Given the description of an element on the screen output the (x, y) to click on. 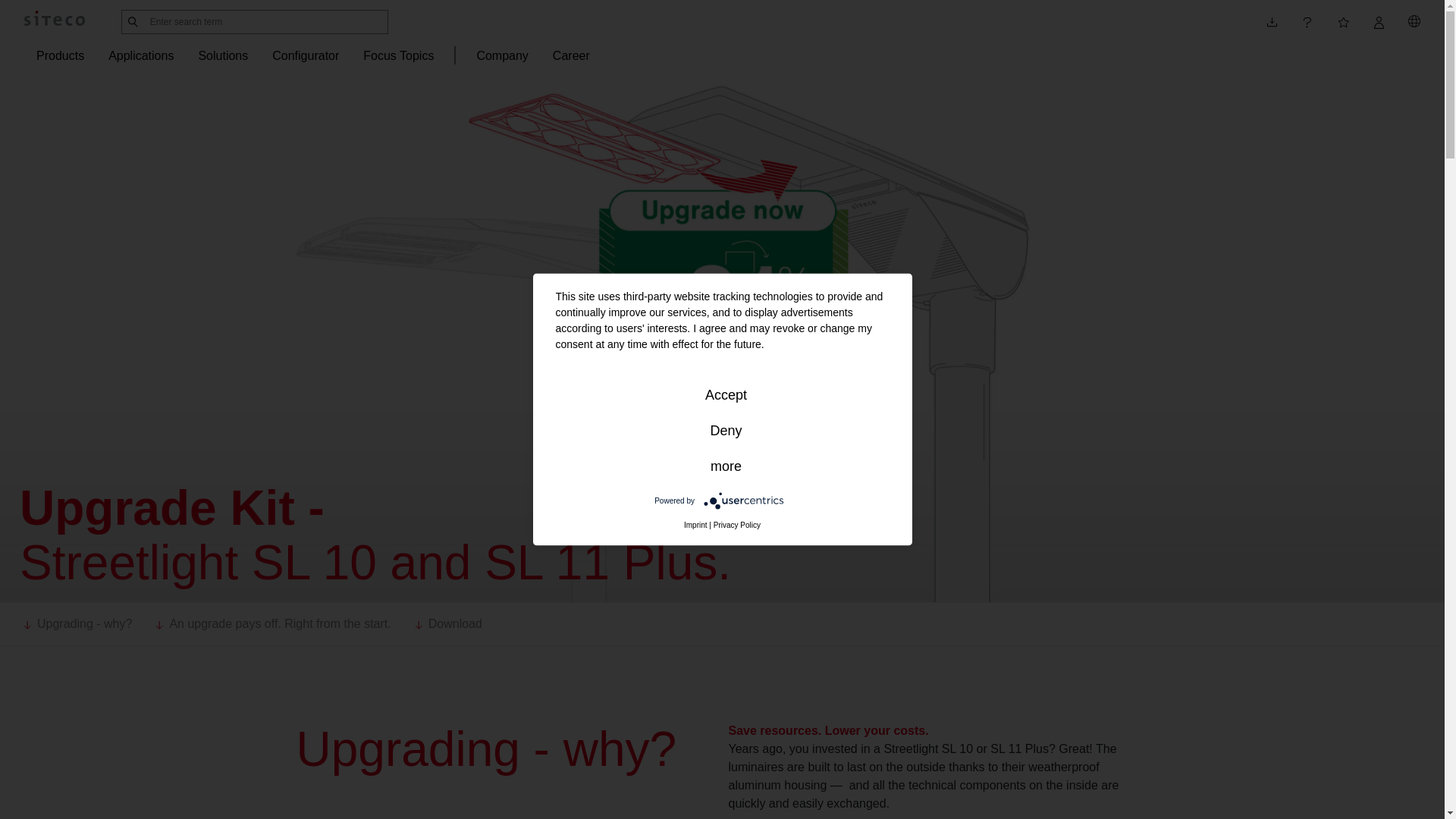
Products (60, 56)
Configurator (305, 56)
Solutions (222, 56)
Applications (140, 56)
